Given the description of an element on the screen output the (x, y) to click on. 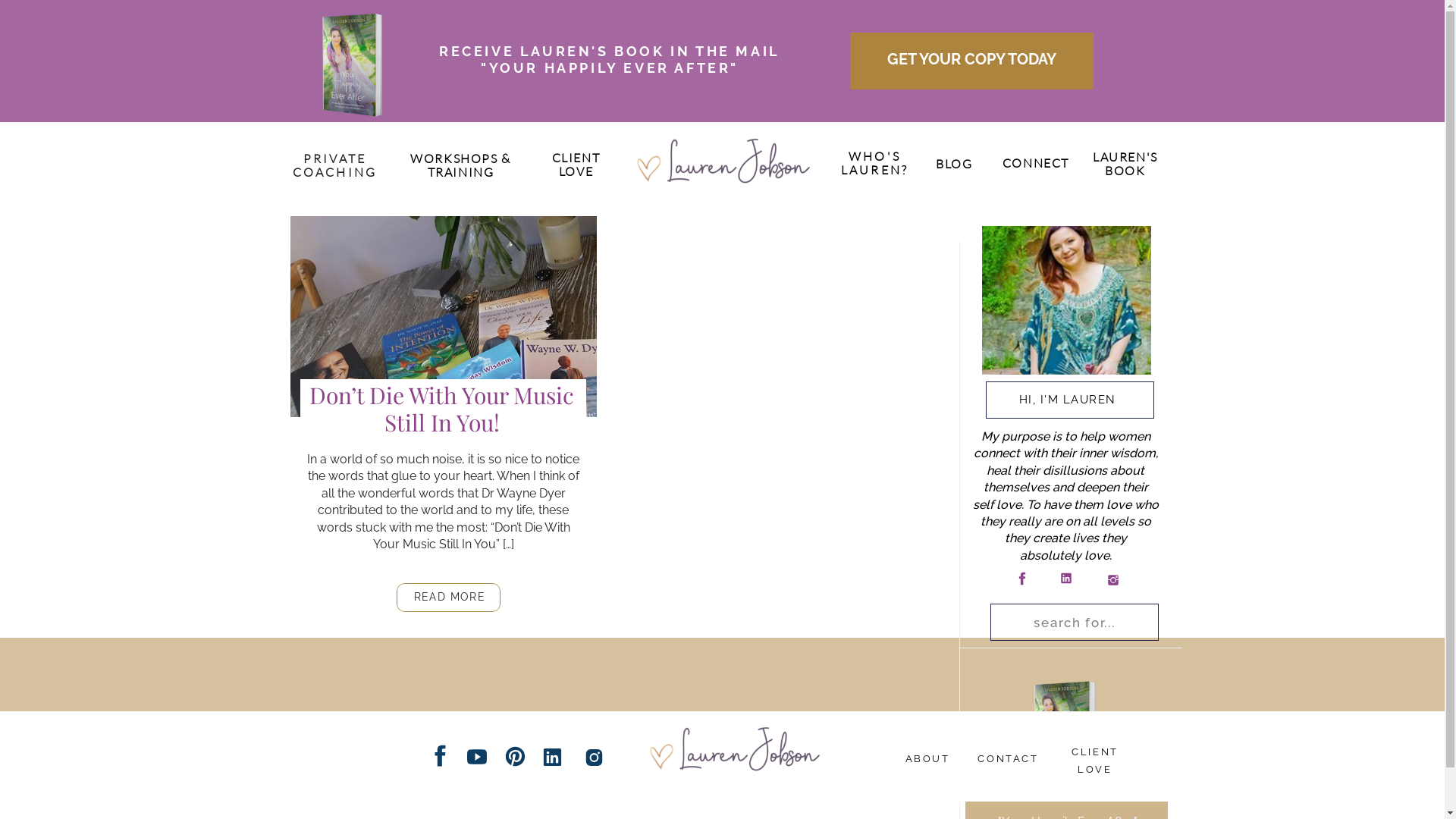
CONNECT Element type: text (1035, 165)
LAUREN'S
BOOK Element type: text (1124, 169)
HI, I'M LAUREN Element type: text (1067, 400)
CLIENT
LOVE Element type: text (575, 158)
RECEIVE LAUREN'S BOOK IN THE MAIL
"YOUR HAPPILY EVER AFTER" Element type: text (609, 66)
GET YOUR COPY TODAY Element type: text (971, 69)
BLOG Element type: text (953, 164)
PRIVATE COACHING Element type: text (334, 159)
WORKSHOPS & TRAINING Element type: text (460, 170)
ORDER MY BOOK Element type: text (1068, 796)
CONTACT Element type: text (1008, 756)
WHO'S LAUREN? Element type: text (875, 157)
ABOUT Element type: text (926, 756)
READ MORE Element type: text (448, 598)
CLIENT LOVE Element type: text (1094, 750)
